Given the description of an element on the screen output the (x, y) to click on. 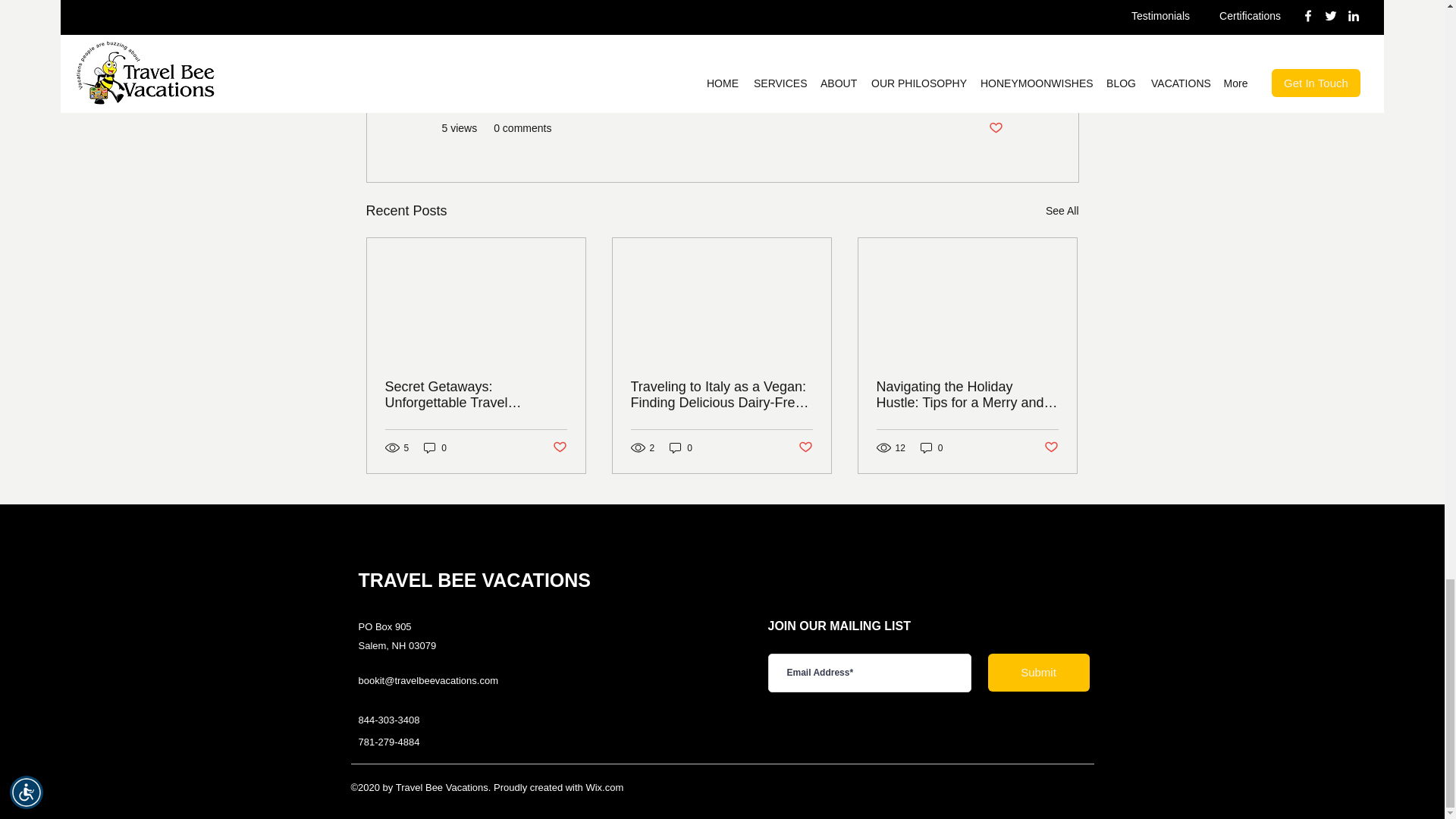
Post not marked as liked (558, 447)
0 (435, 447)
Post not marked as liked (995, 128)
See All (1061, 210)
0 (681, 447)
Post not marked as liked (804, 447)
